Given the description of an element on the screen output the (x, y) to click on. 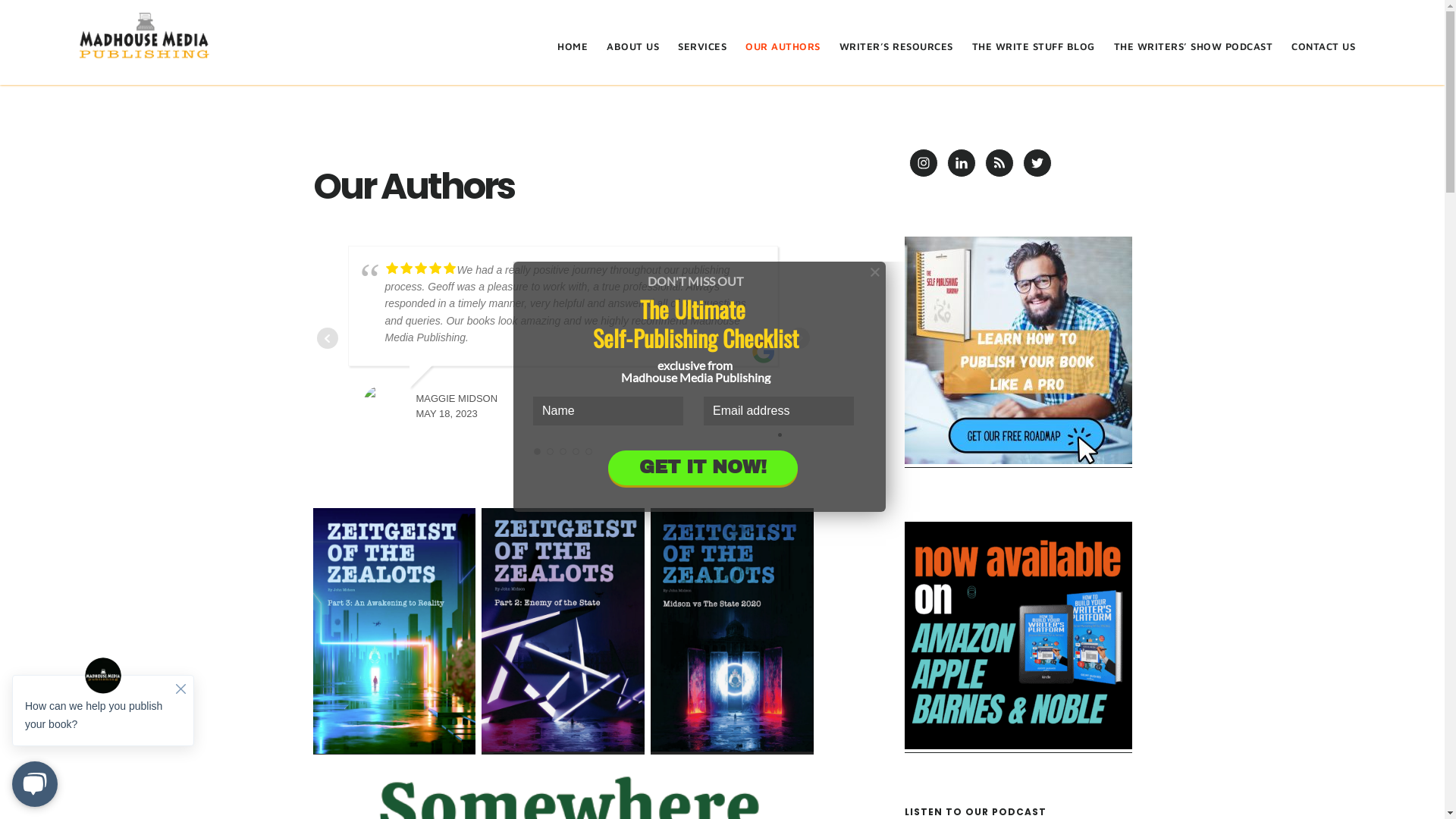
SERVICES Element type: text (702, 40)
THE WRITE STUFF BLOG Element type: text (1033, 40)
Skip to main content Element type: text (0, 0)
MADHOUSE MEDIA PUBLISHING Element type: text (143, 32)
ABOUT US Element type: text (632, 40)
CONTACT US Element type: text (1322, 40)
Prev Element type: text (327, 337)
OUR AUTHORS Element type: text (782, 40)
Next Element type: text (798, 337)
HOME Element type: text (572, 40)
